Given the description of an element on the screen output the (x, y) to click on. 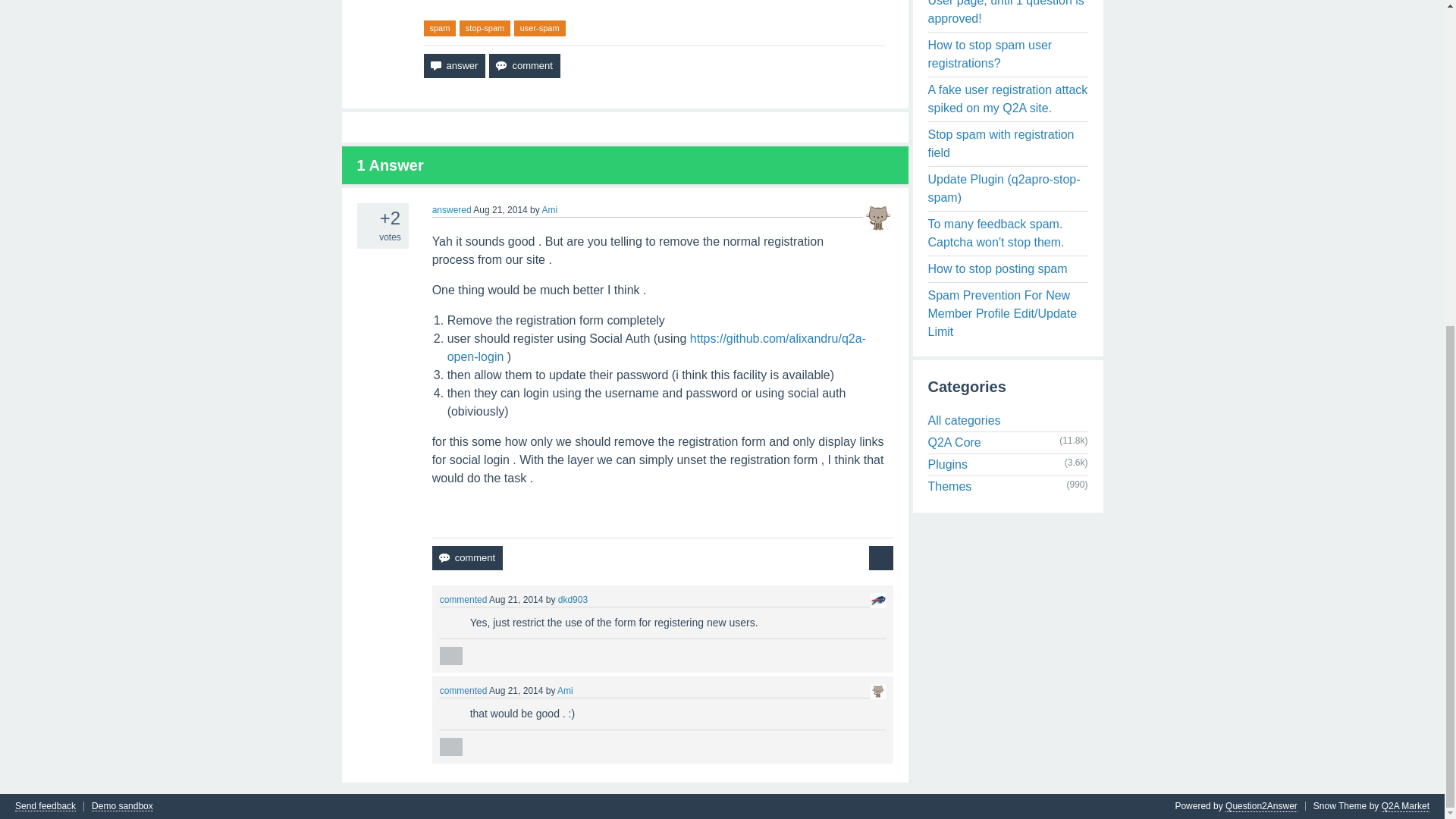
spam (439, 28)
answered (451, 209)
answer (453, 65)
comment (524, 65)
Click to vote down (443, 717)
reply (451, 746)
Add a comment on this question (524, 65)
Reply to this comment (451, 656)
Click to vote down (443, 626)
comment (467, 558)
stop-spam (485, 28)
Click to vote down (365, 235)
answer (453, 65)
comment (524, 65)
ask related question (881, 558)
